Given the description of an element on the screen output the (x, y) to click on. 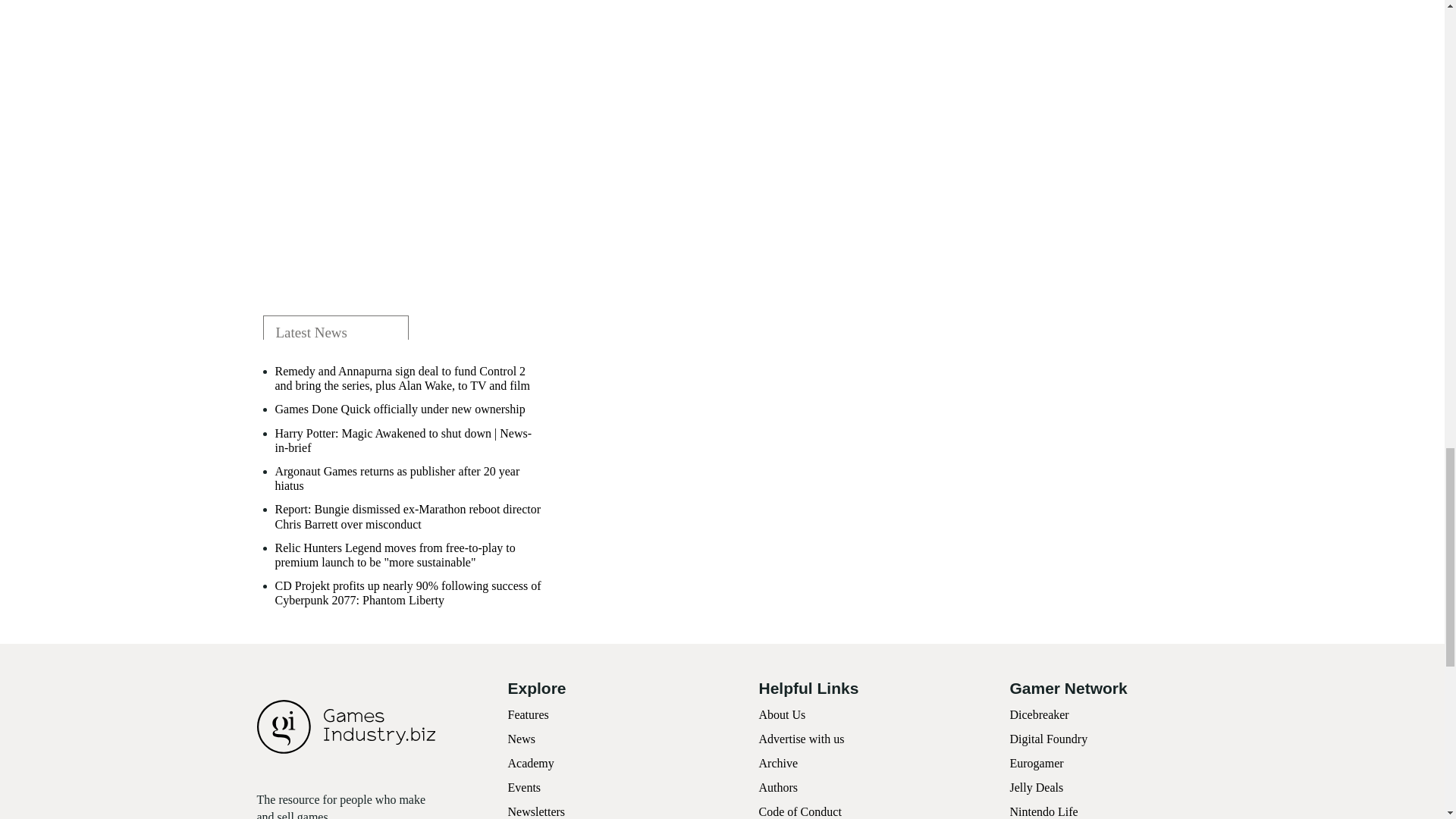
Events (524, 787)
Features (528, 714)
Newsletters (537, 811)
Argonaut Games returns as publisher after 20 year hiatus (409, 478)
About Us (781, 714)
Academy (531, 762)
News (521, 738)
